Given the description of an element on the screen output the (x, y) to click on. 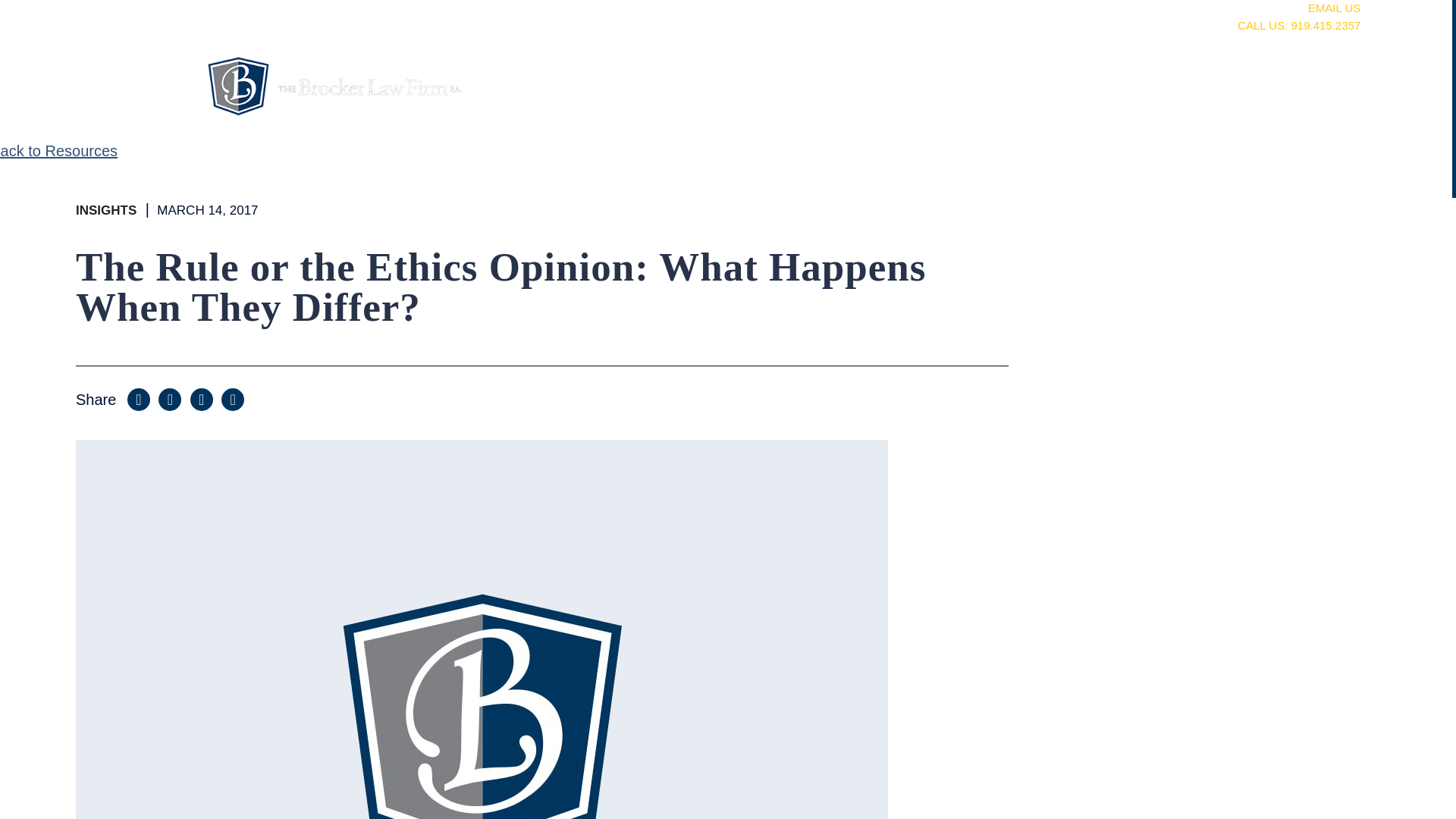
CALL US: 919.415.2357 (921, 25)
ABOUT US (815, 104)
TESTIMONIALS (1301, 104)
PRACTICE AREAS (975, 104)
CONTACT (921, 42)
DO I NEED AN ATTORNEY? (921, 59)
RESOURCES (1143, 104)
